Given the description of an element on the screen output the (x, y) to click on. 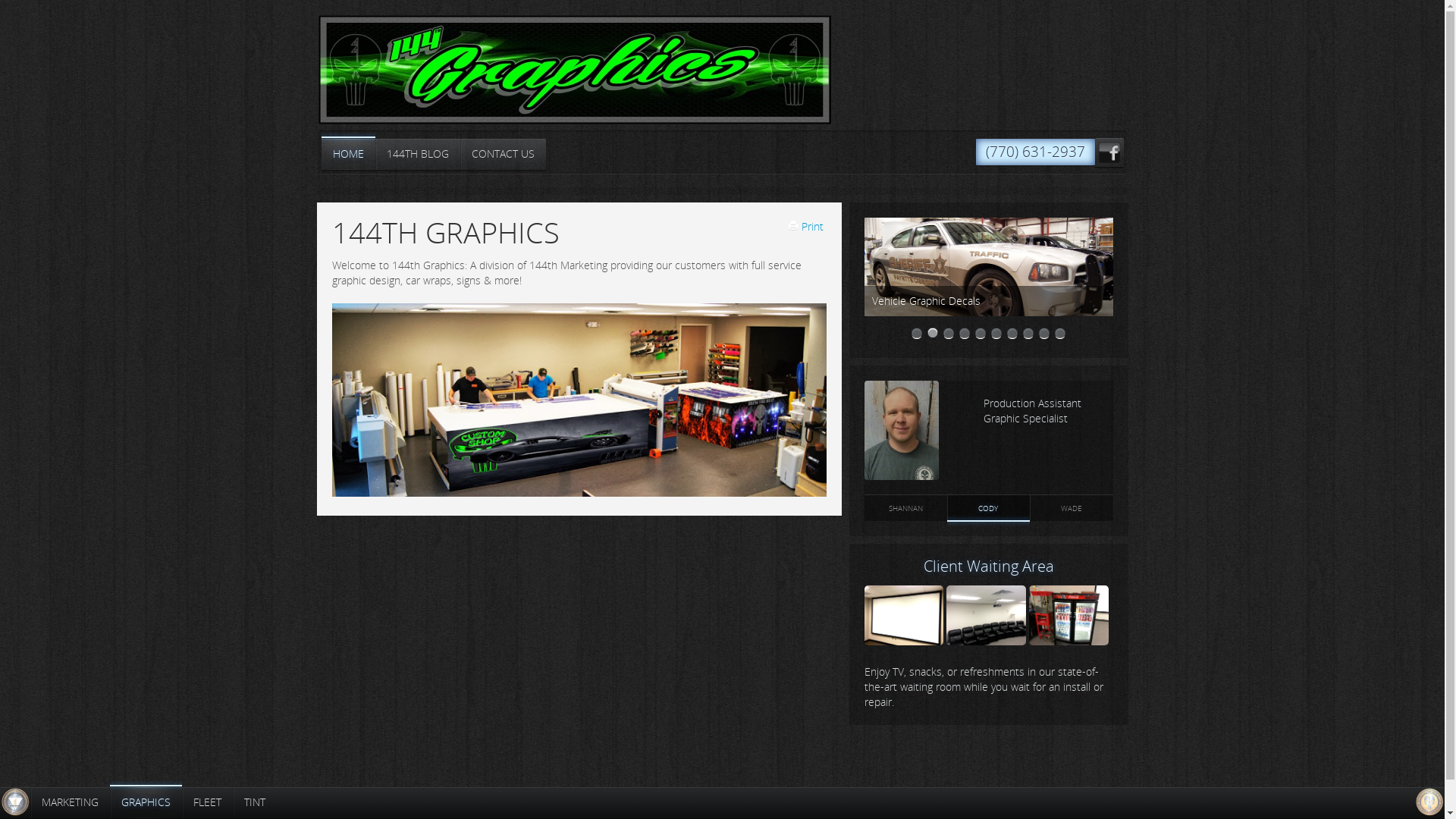
FLEET Element type: text (207, 802)
Seating Element type: hover (986, 640)
(770) 631-2937 Element type: text (1034, 151)
Snacks Element type: hover (1068, 640)
CONTACT US Element type: text (502, 153)
HOME Element type: text (348, 153)
144TH BLOG Element type: text (416, 153)
 Print  Element type: text (806, 226)
Waiting Area Theater Element type: hover (904, 640)
TINT Element type: text (254, 802)
GRAPHICS Element type: text (145, 802)
MARKETING Element type: text (69, 802)
